Given the description of an element on the screen output the (x, y) to click on. 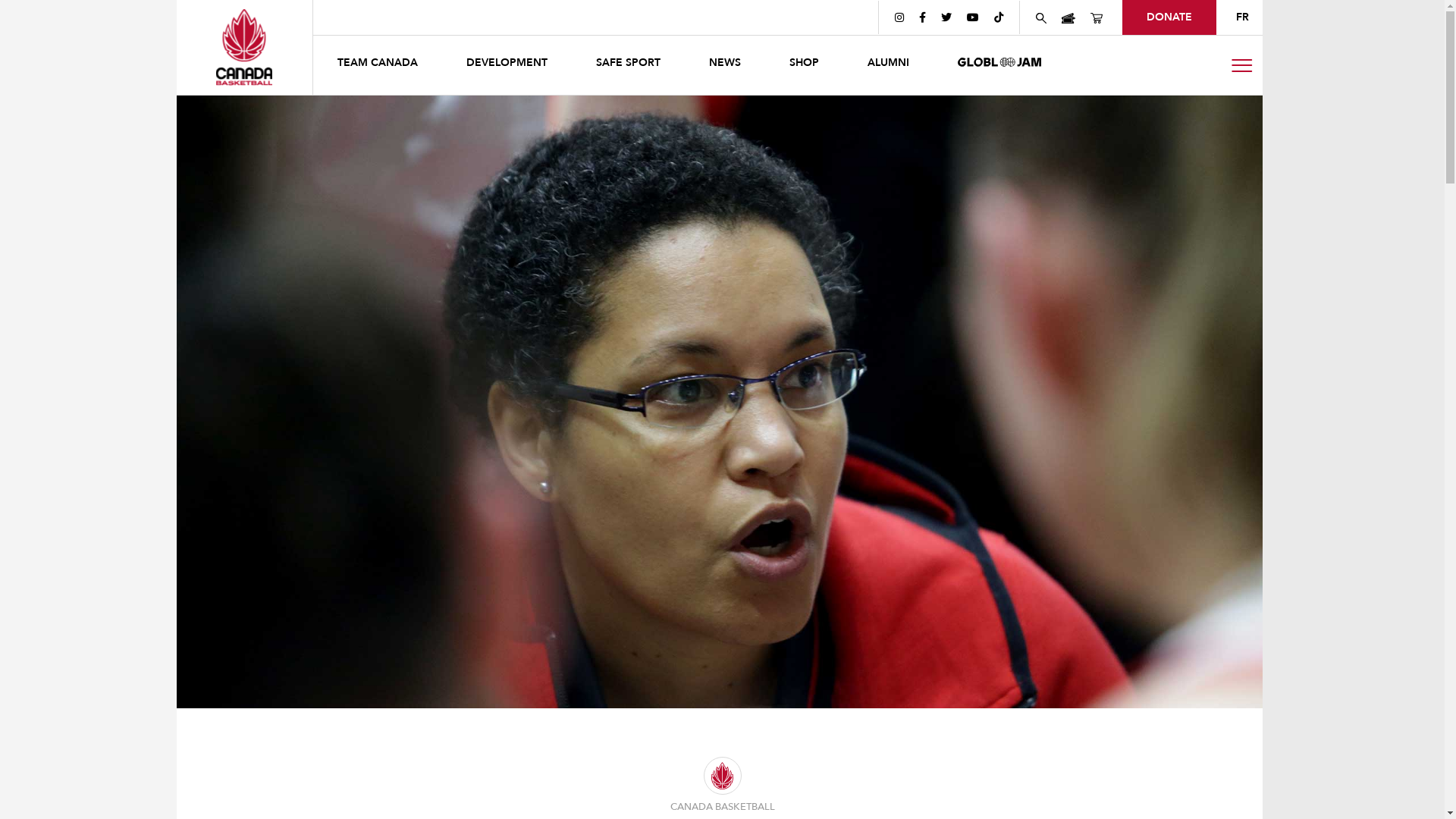
DONATE Element type: text (1169, 17)
NEWS Element type: text (724, 64)
SAFE SPORT Element type: text (627, 64)
FR Element type: text (1242, 17)
SHOP Element type: text (803, 64)
ALUMNI Element type: text (888, 64)
